Given the description of an element on the screen output the (x, y) to click on. 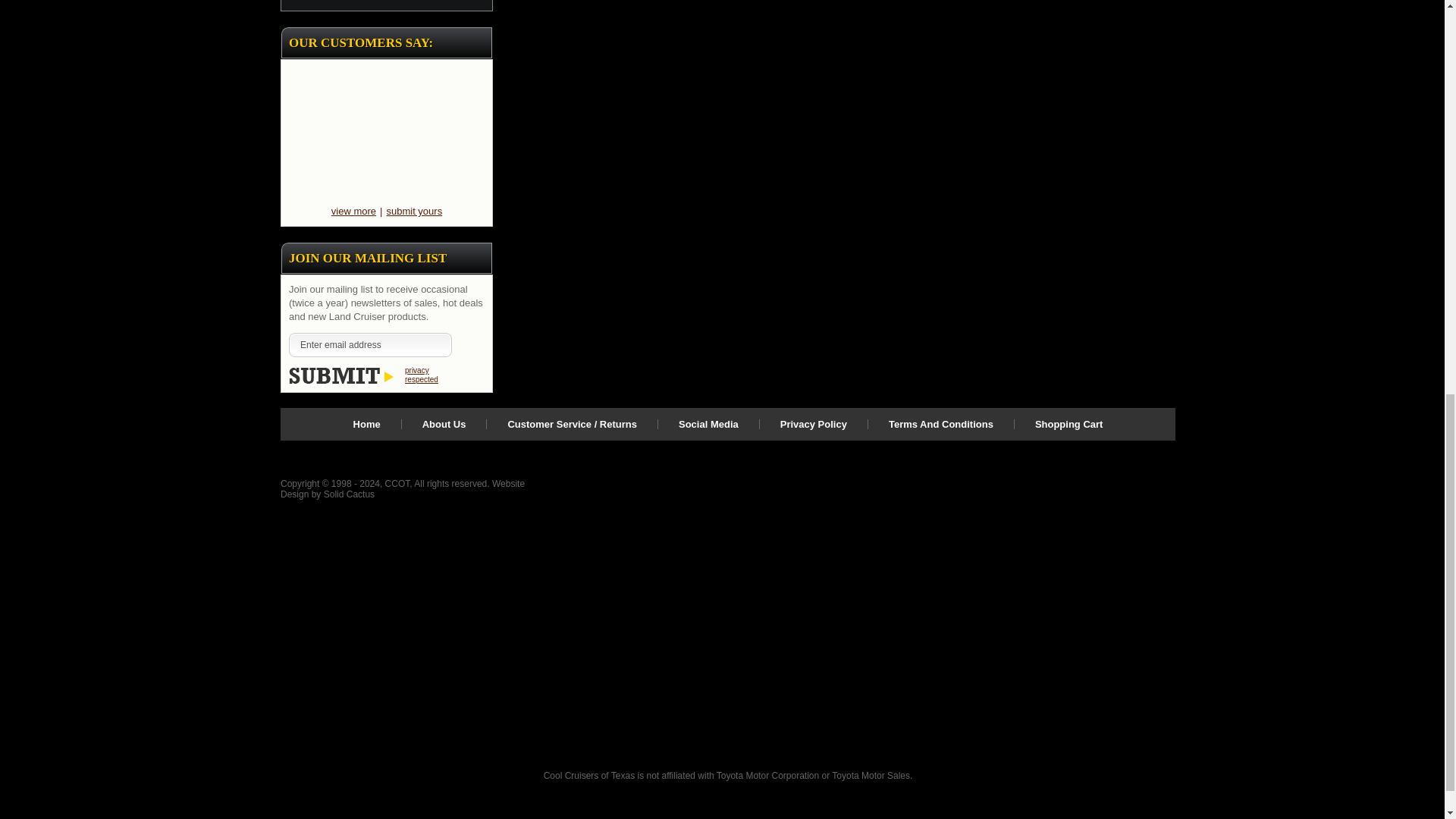
Enter email address (369, 344)
Submit (340, 374)
